Given the description of an element on the screen output the (x, y) to click on. 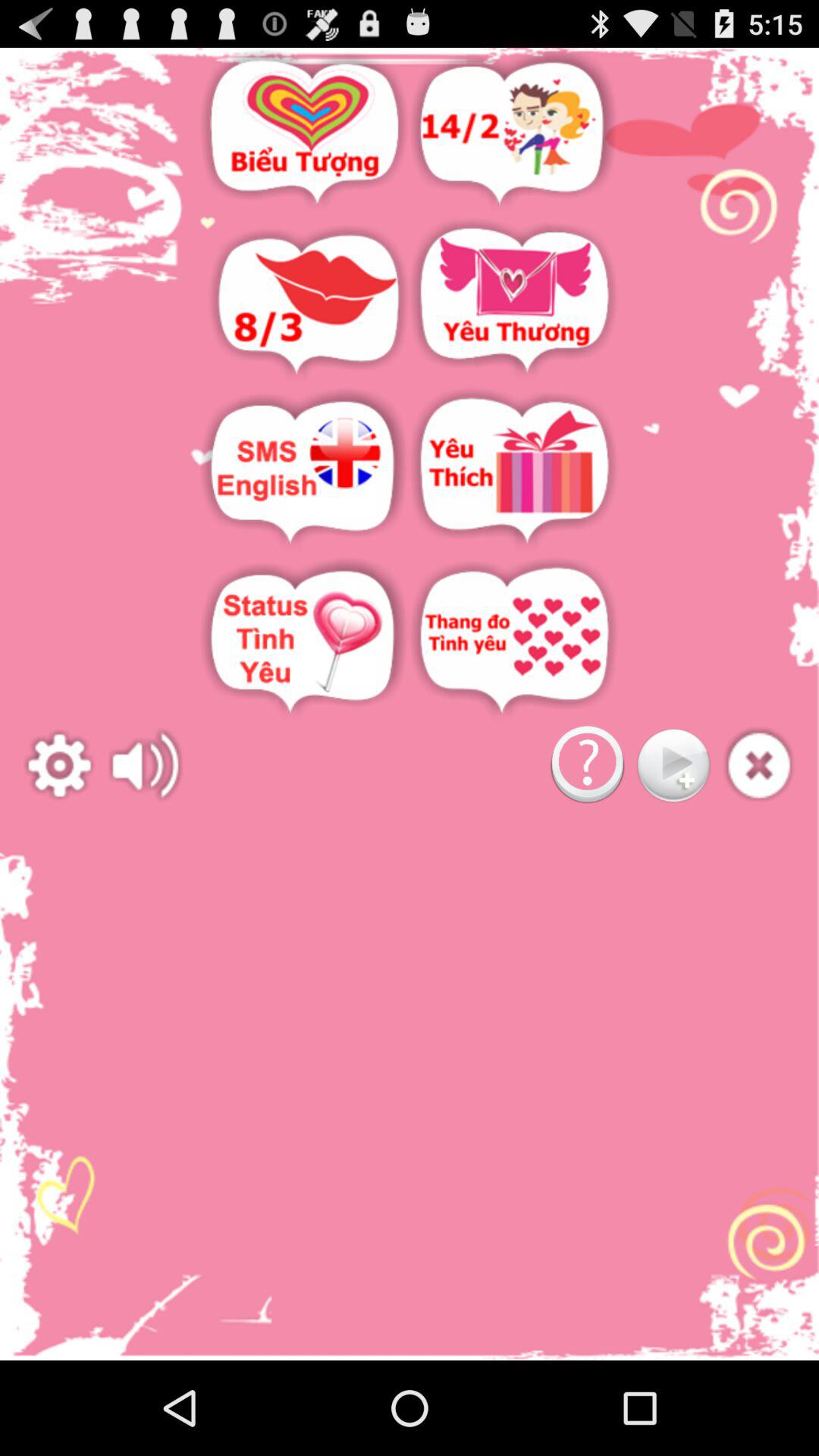
go to add (759, 765)
